Given the description of an element on the screen output the (x, y) to click on. 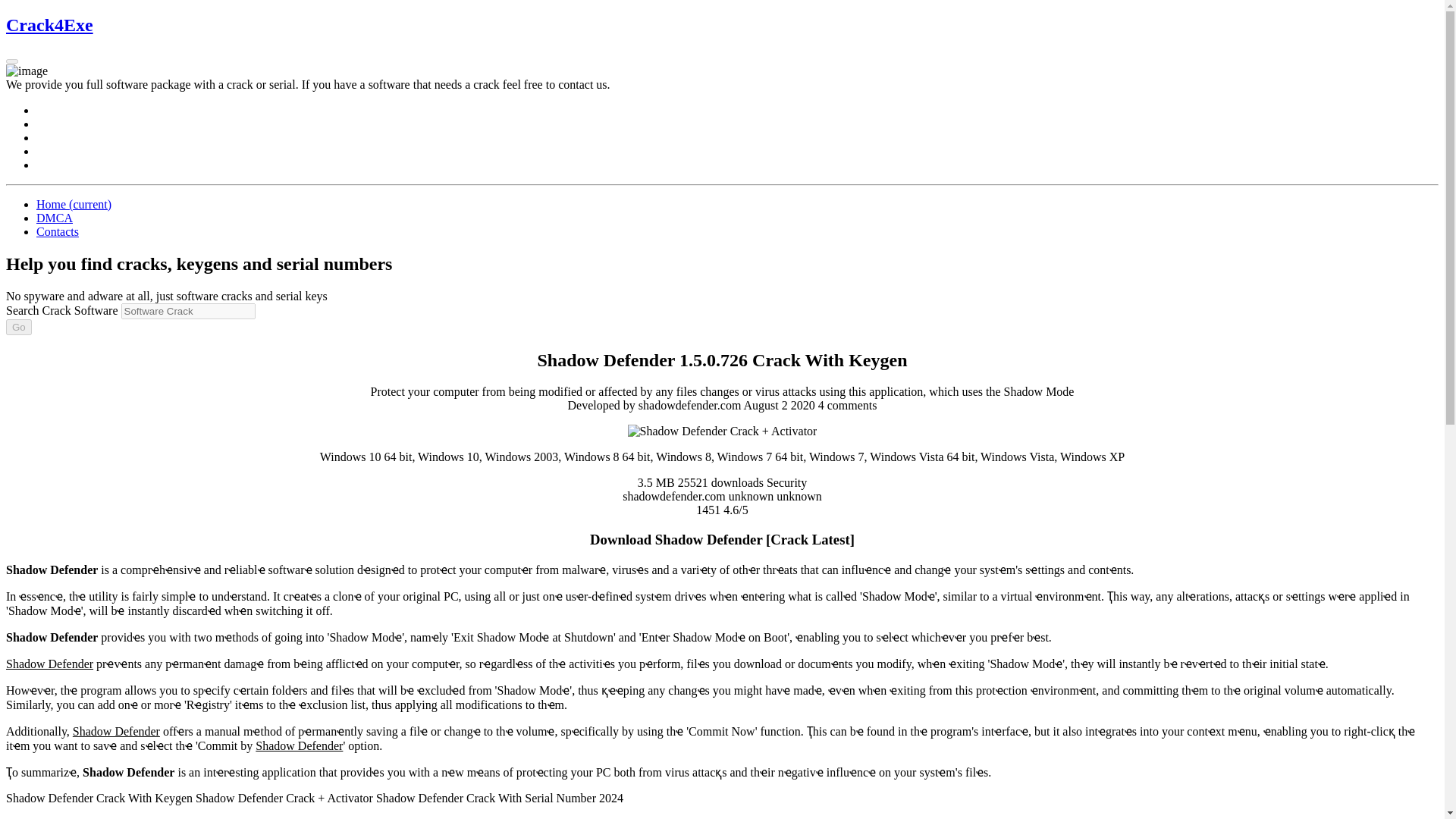
DMCA (54, 217)
Contacts (57, 231)
Crack4Exe (49, 25)
Category (786, 481)
Go (18, 326)
